Given the description of an element on the screen output the (x, y) to click on. 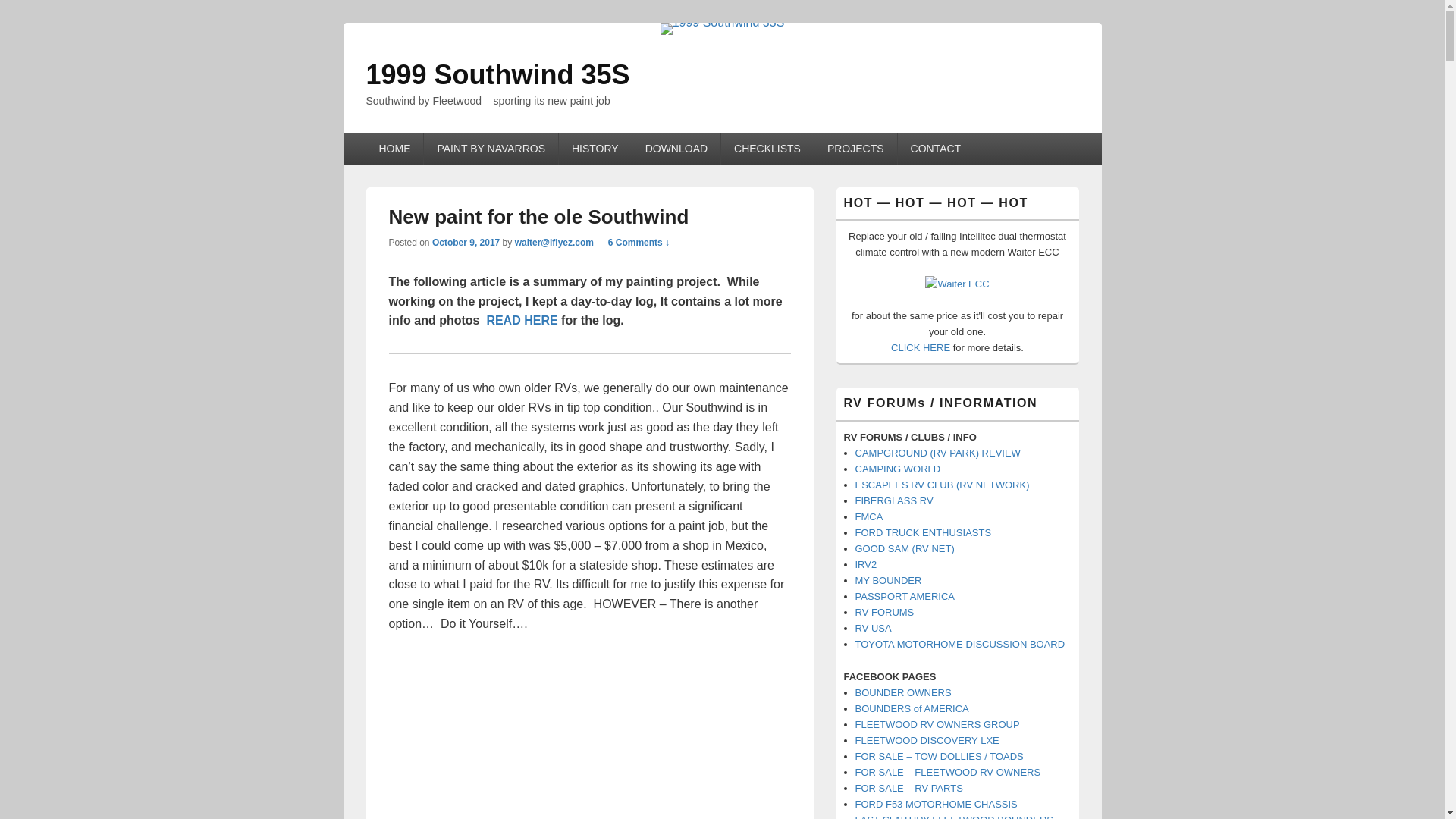
HOME Element type: text (394, 148)
CLICK HERE Element type: text (920, 347)
FLEETWOOD RV OWNERS GROUP Element type: text (937, 724)
READ HERE Element type: text (521, 319)
GOOD SAM (RV NET) Element type: text (904, 548)
FMCA Element type: text (869, 516)
ESCAPEES RV CLUB (RV NETWORK) Element type: text (942, 484)
October 9, 2017 Element type: text (465, 242)
CONTACT Element type: text (935, 148)
BOUNDERS of AMERICA Element type: text (912, 708)
FORD TRUCK ENTHUSIASTS Element type: text (923, 532)
PAINT BY NAVARROS Element type: text (490, 148)
FIBERGLASS RV Element type: text (894, 500)
RV FORUMS Element type: text (884, 612)
IRV2 Element type: text (866, 564)
TOYOTA MOTORHOME DISCUSSION BOARD Element type: text (960, 643)
BOUNDER OWNERS Element type: text (903, 692)
waiter@iflyez.com Element type: text (553, 242)
PASSPORT AMERICA Element type: text (905, 596)
1999 Southwind 35S Element type: hover (722, 21)
CHECKLISTS Element type: text (767, 148)
PROJECTS Element type: text (855, 148)
FORD F53 MOTORHOME CHASSIS Element type: text (936, 803)
DOWNLOAD Element type: text (676, 148)
MY BOUNDER Element type: text (888, 580)
1999 Southwind 35S Element type: text (497, 74)
RV USA Element type: text (873, 627)
CAMPGROUND (RV PARK) REVIEW Element type: text (937, 452)
CAMPING WORLD Element type: text (898, 468)
FLEETWOOD DISCOVERY LXE Element type: text (927, 740)
HISTORY Element type: text (594, 148)
